Given the description of an element on the screen output the (x, y) to click on. 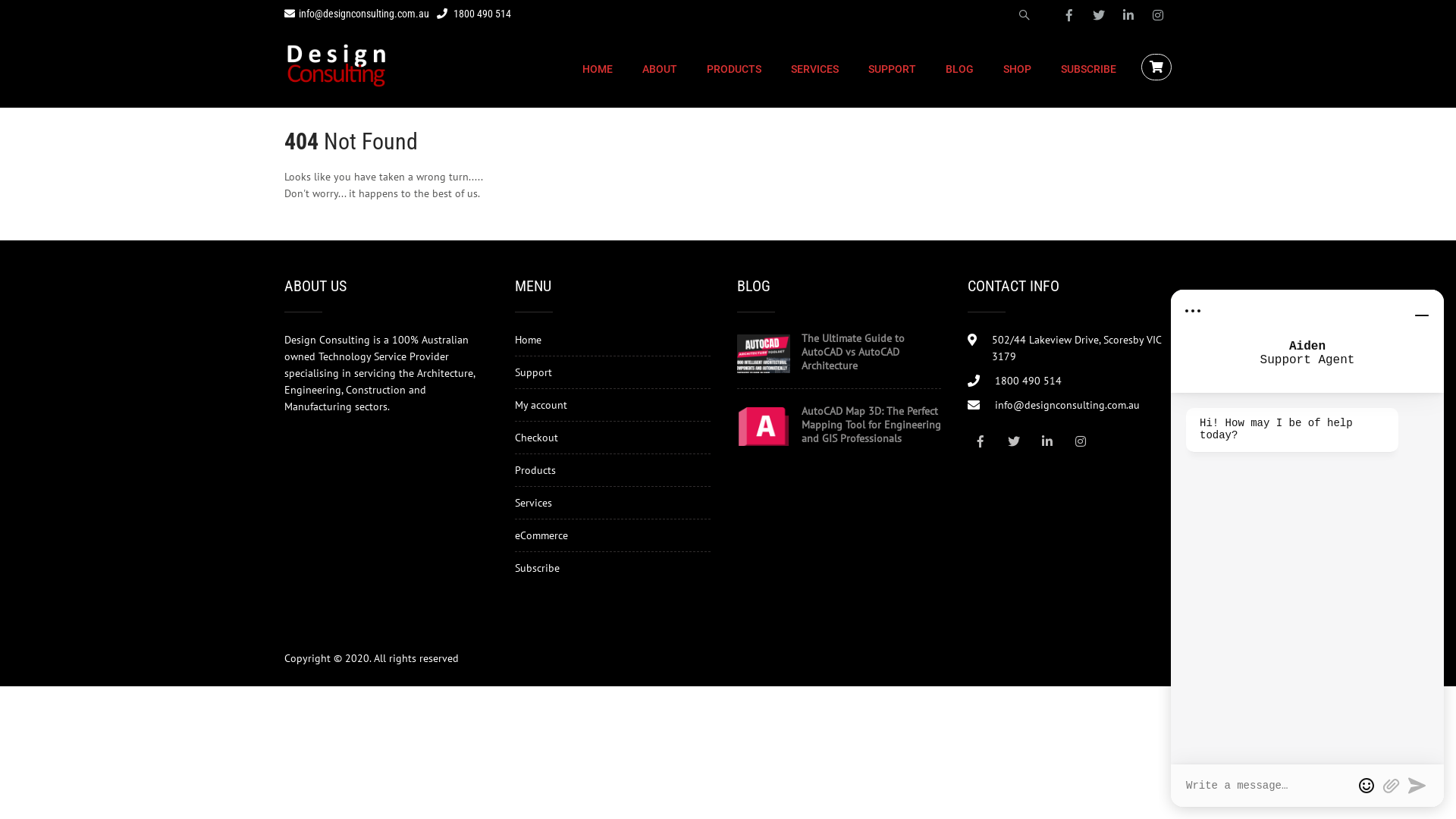
SERVICES Element type: text (814, 68)
fab fa-instagram Element type: hover (1080, 441)
fab fa-facebook-f Element type: hover (1068, 15)
Support Element type: text (533, 372)
eCommerce Element type: text (540, 535)
Subscribe Element type: text (536, 567)
PRODUCTS Element type: text (734, 68)
BLOG Element type: text (959, 68)
fab fa-linkedin-in Element type: hover (1047, 441)
HOME Element type: text (597, 68)
View your shopping cart Element type: hover (1158, 67)
The Ultimate Guide to AutoCAD vs AutoCAD Architecture Element type: text (839, 351)
My account Element type: text (540, 404)
ABOUT Element type: text (659, 68)
fab fa-sistrix Element type: hover (1024, 15)
SHOP Element type: text (1016, 68)
SUBSCRIBE Element type: text (1088, 68)
Services Element type: text (533, 502)
Products Element type: text (534, 469)
info@designconsulting.com.au Element type: text (356, 13)
Checkout Element type: text (536, 437)
fab fa-linkedin-in Element type: hover (1128, 15)
fab fa-facebook-f Element type: hover (980, 441)
fab fa-twitter Element type: hover (1014, 441)
SUPPORT Element type: text (891, 68)
fab fa-twitter Element type: hover (1098, 15)
fab fa-instagram Element type: hover (1157, 15)
Home Element type: text (527, 339)
info@designconsulting.com.au Element type: text (1066, 404)
